Given the description of an element on the screen output the (x, y) to click on. 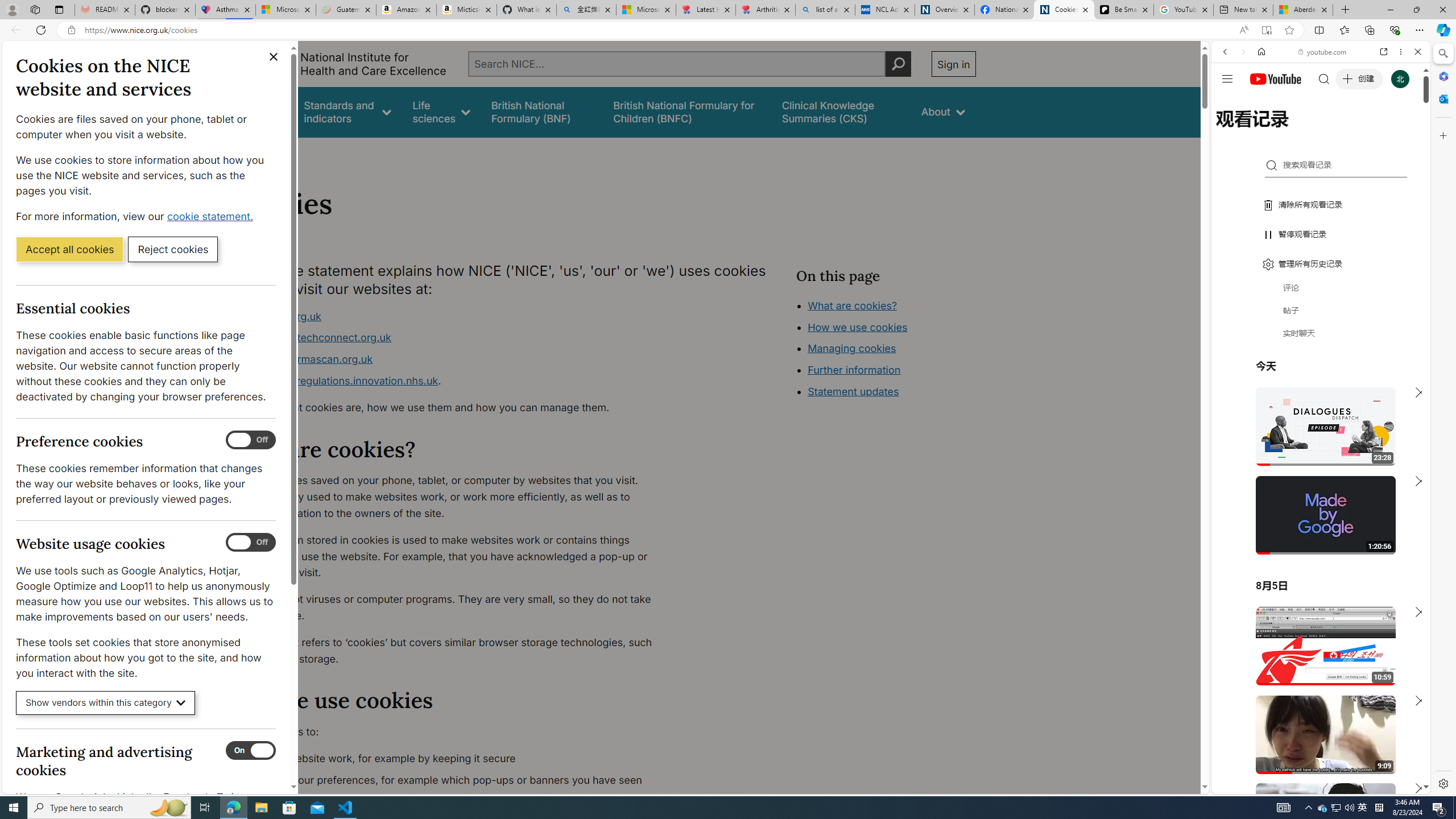
Aberdeen, Hong Kong SAR hourly forecast | Microsoft Weather (1303, 9)
www.ukpharmascan.org.uk (305, 359)
Guidance (260, 111)
Preferences (1403, 129)
Preference cookies (250, 439)
Further information (854, 369)
